Given the description of an element on the screen output the (x, y) to click on. 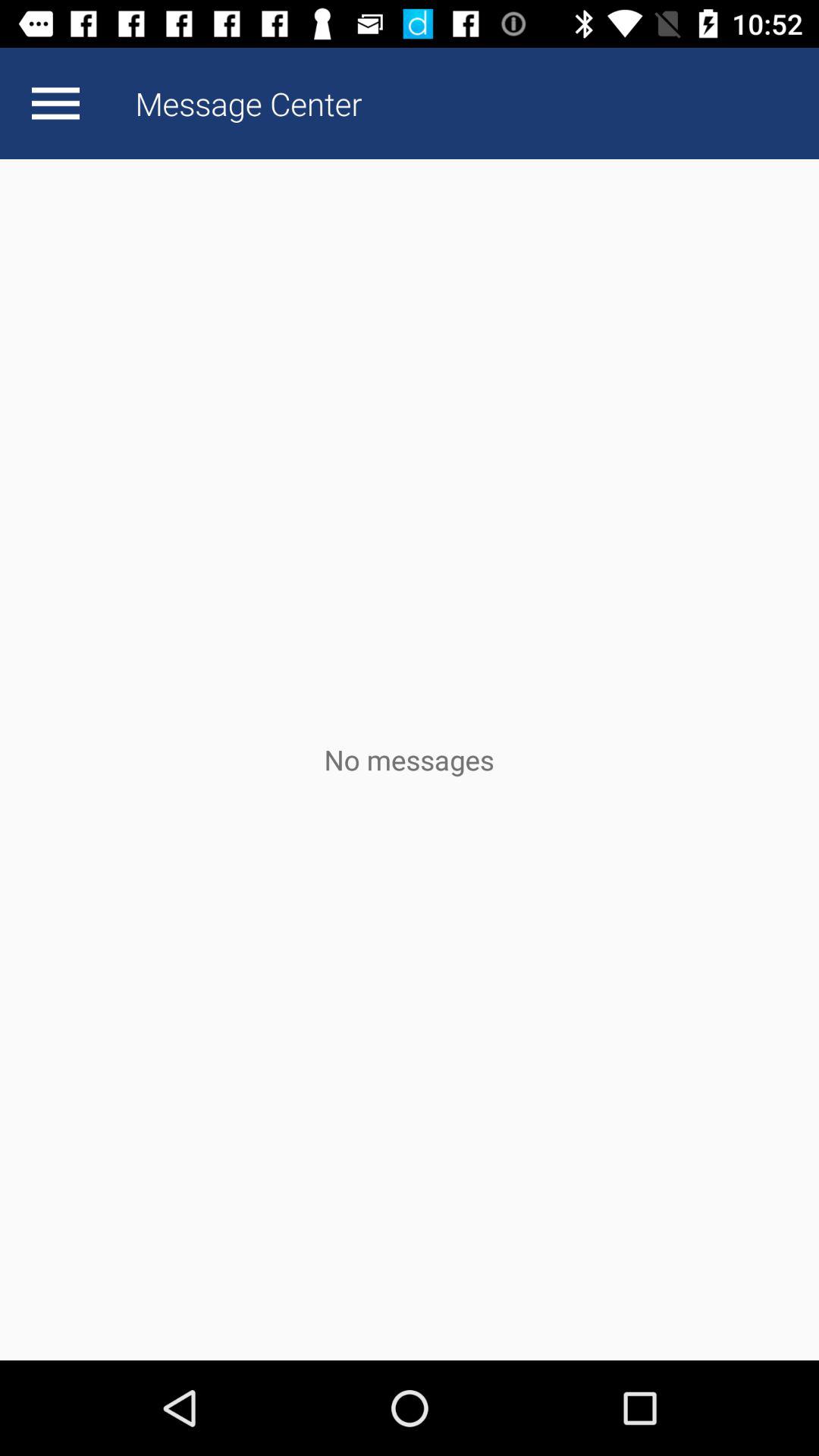
settings (55, 103)
